Given the description of an element on the screen output the (x, y) to click on. 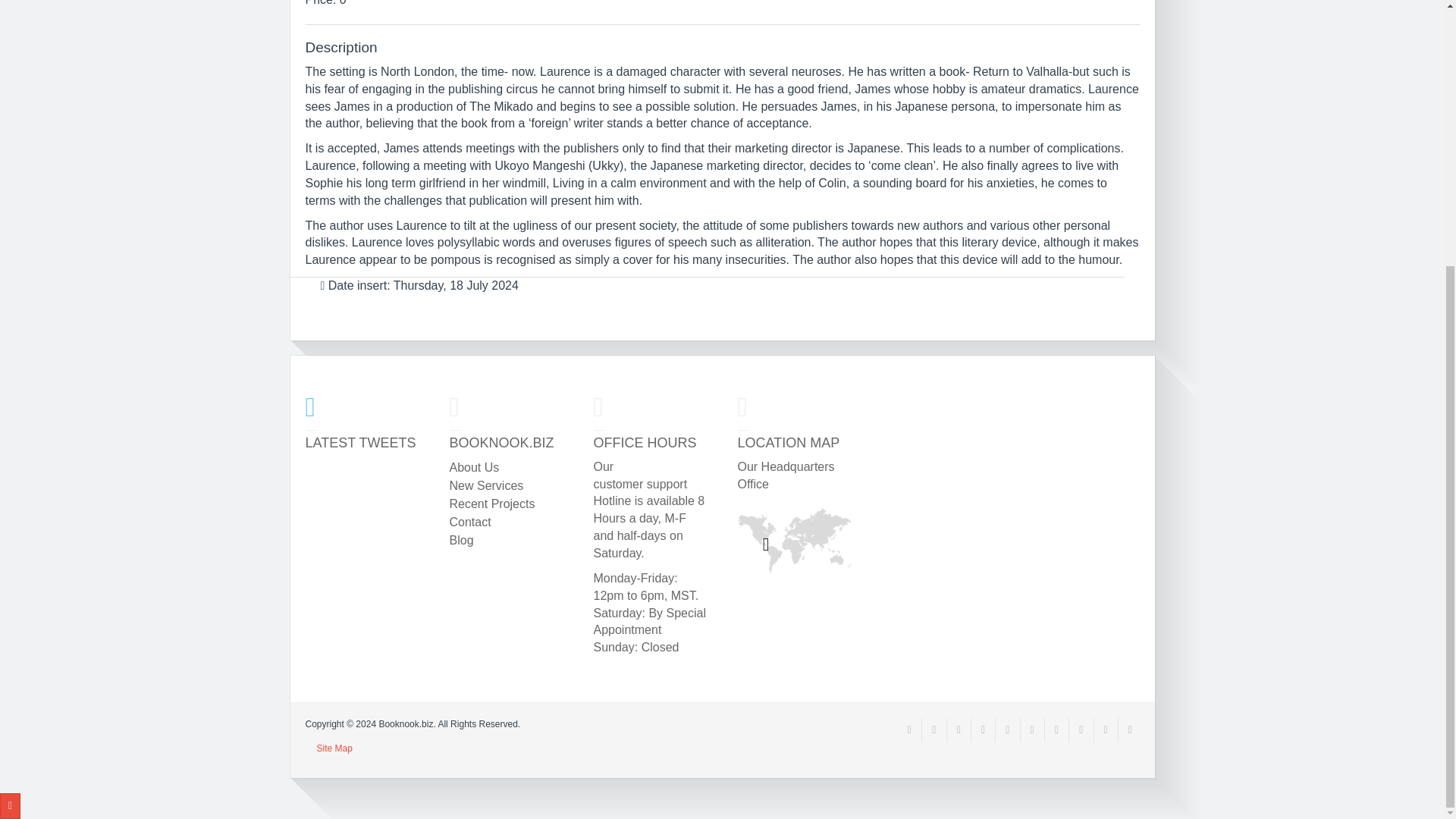
Contact Link (469, 521)
RSS (908, 730)
Twitter (958, 730)
Recent projects link (491, 503)
About Us (473, 467)
Facebook (933, 730)
Google plus (982, 730)
Blog link (460, 540)
